Given the description of an element on the screen output the (x, y) to click on. 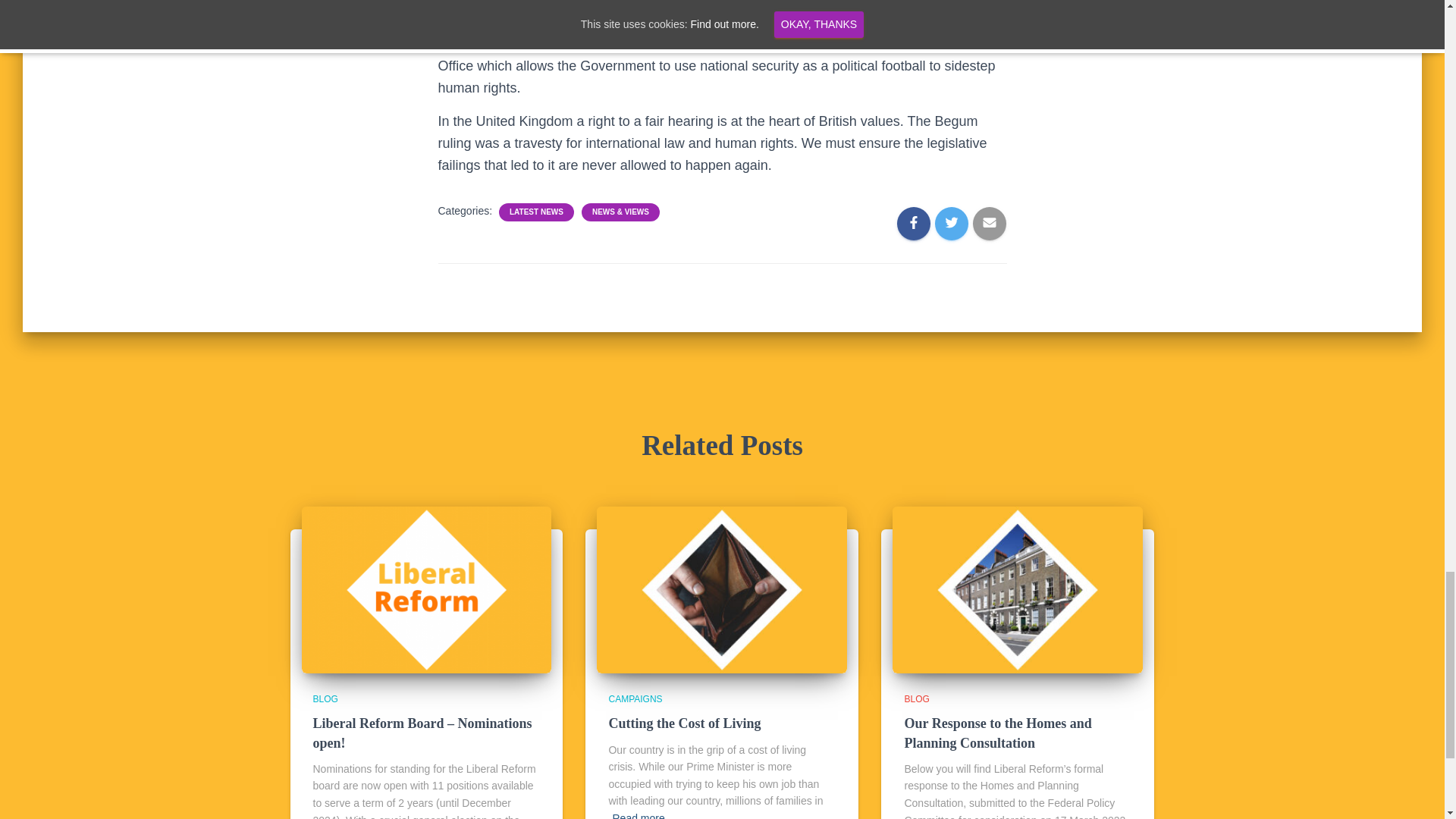
Cutting the Cost of Living (684, 723)
LATEST NEWS (536, 212)
CAMPAIGNS (635, 698)
BLOG (916, 698)
BLOG (325, 698)
Our Response to the Homes and Planning Consultation (997, 732)
